Given the description of an element on the screen output the (x, y) to click on. 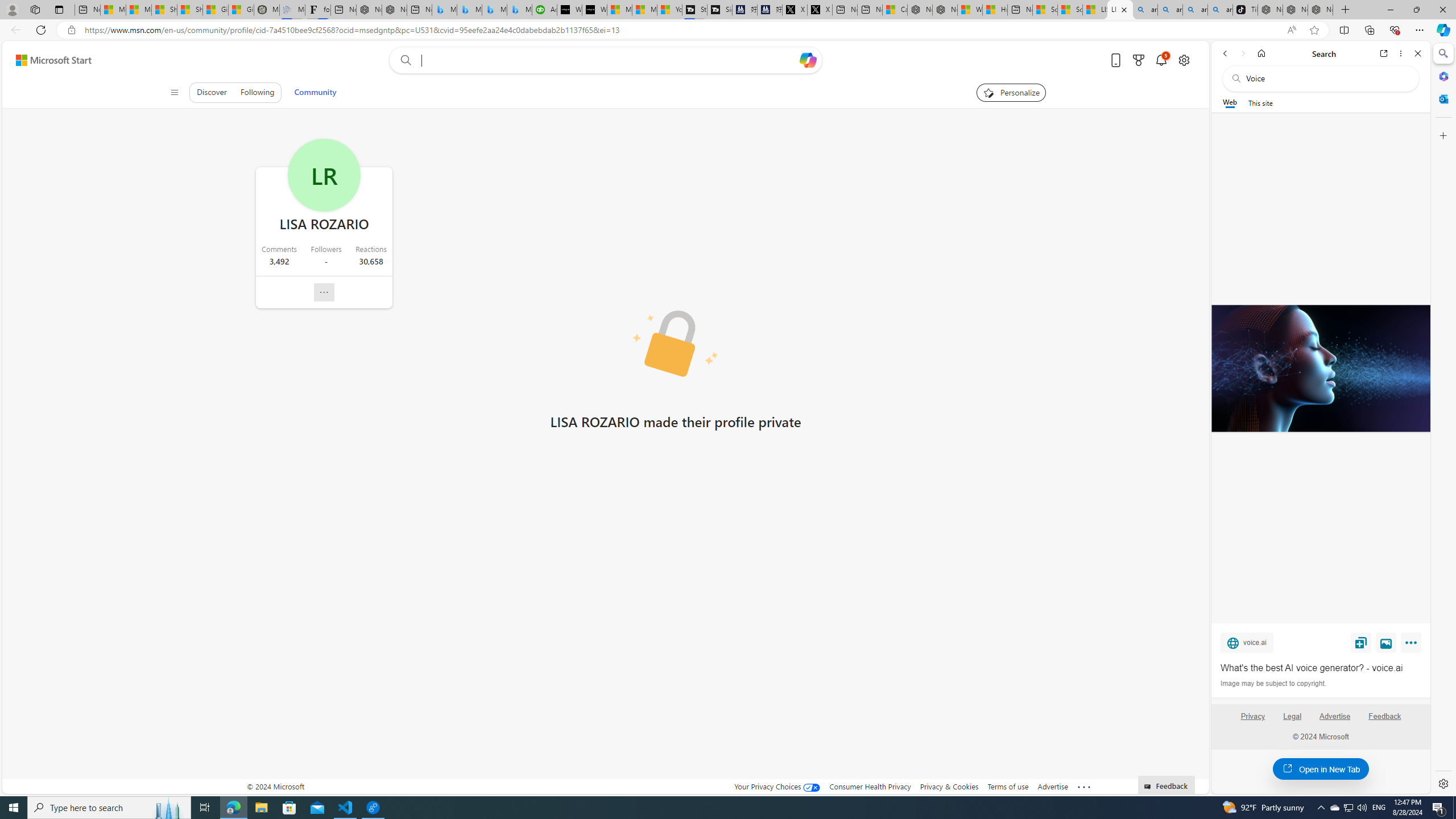
Class: feedback_link_icon-DS-EntryPoint1-1 (1149, 786)
Accounting Software for Accountants, CPAs and Bookkeepers (544, 9)
Advertise (1335, 715)
Skip to footer (46, 59)
Private profile picture (675, 343)
Nordace - Summer Adventures 2024 (944, 9)
Consumer Health Privacy (870, 786)
Privacy (1252, 715)
